Given the description of an element on the screen output the (x, y) to click on. 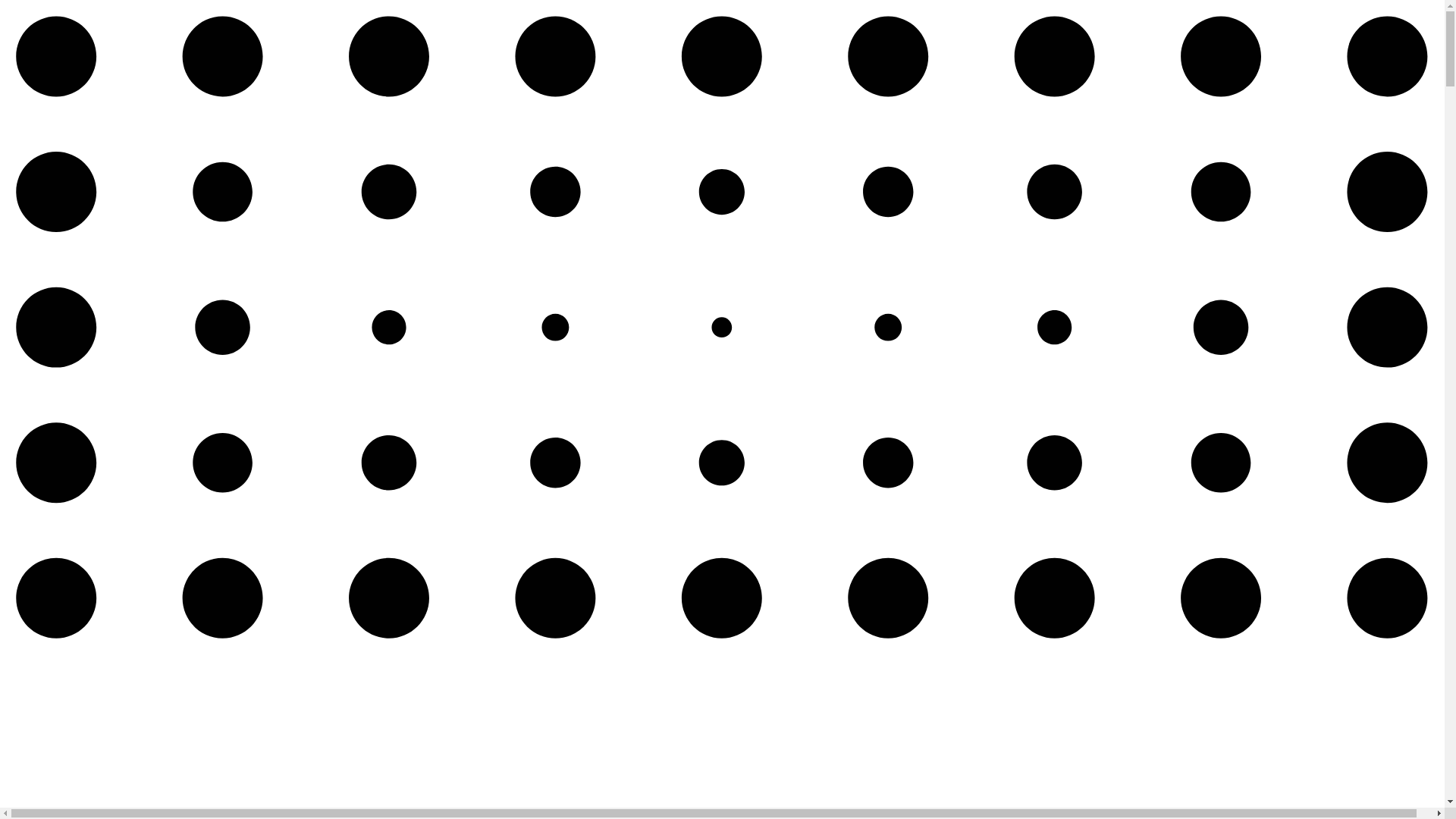
Overslaan en naar de inhoud gaan Element type: text (6, 6)
